Given the description of an element on the screen output the (x, y) to click on. 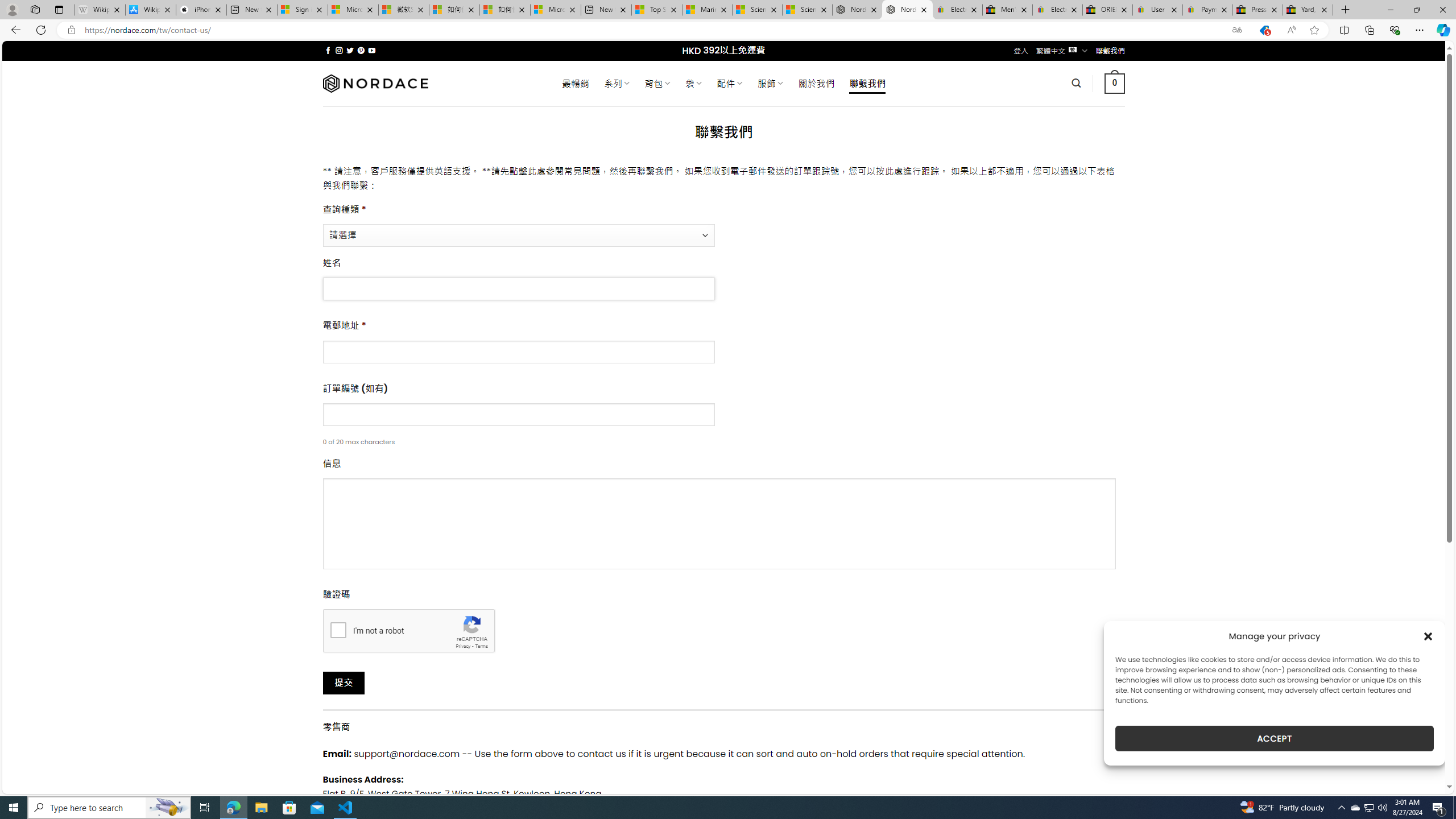
 0  (1115, 83)
iPhone - Apple (201, 9)
Press Room - eBay Inc. (1257, 9)
Microsoft Services Agreement (352, 9)
